Given the description of an element on the screen output the (x, y) to click on. 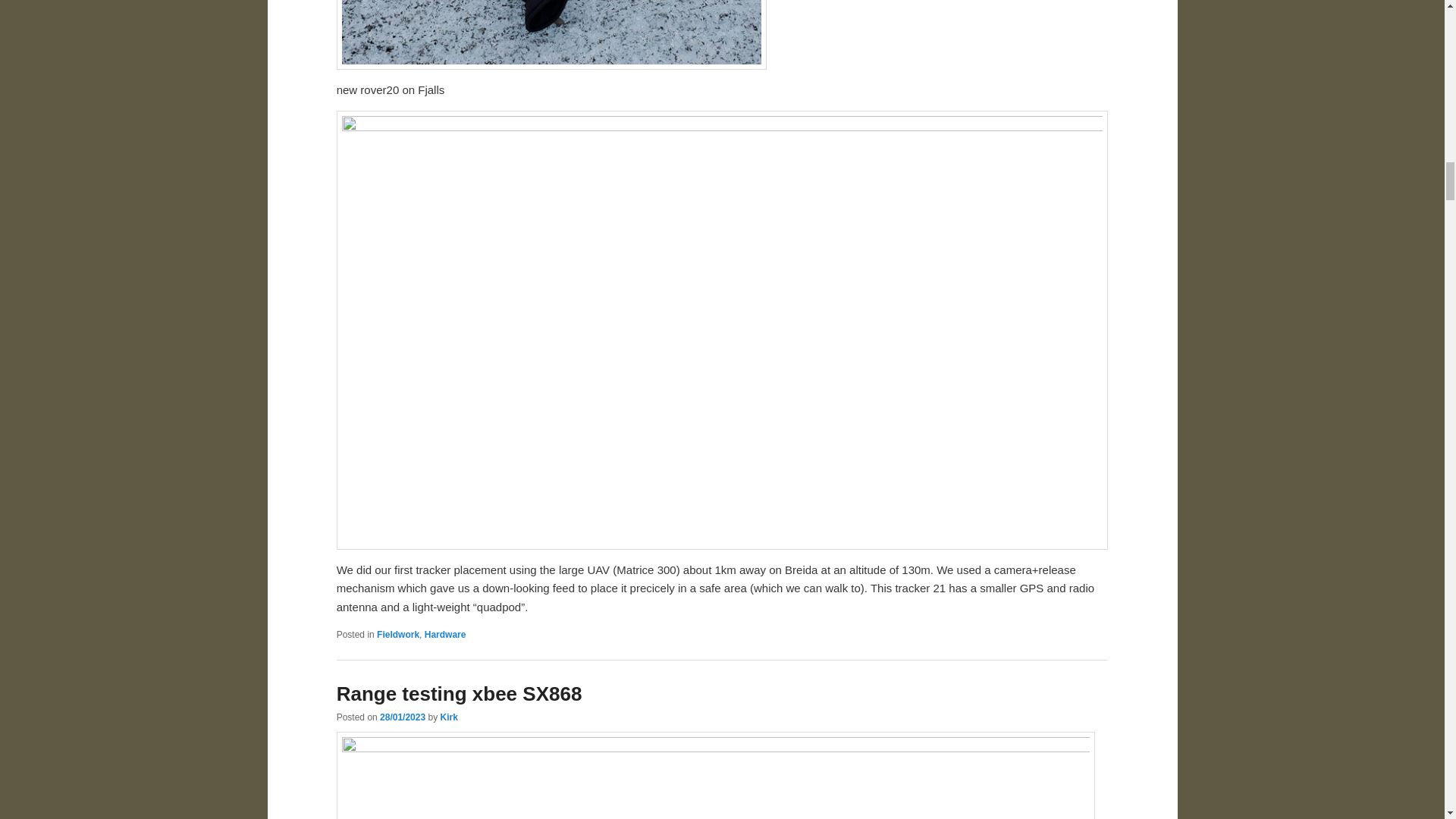
14:25 (402, 716)
View all posts by Kirk (448, 716)
Fieldwork (398, 634)
Hardware (445, 634)
Range testing xbee SX868 (459, 693)
Kirk (448, 716)
